Given the description of an element on the screen output the (x, y) to click on. 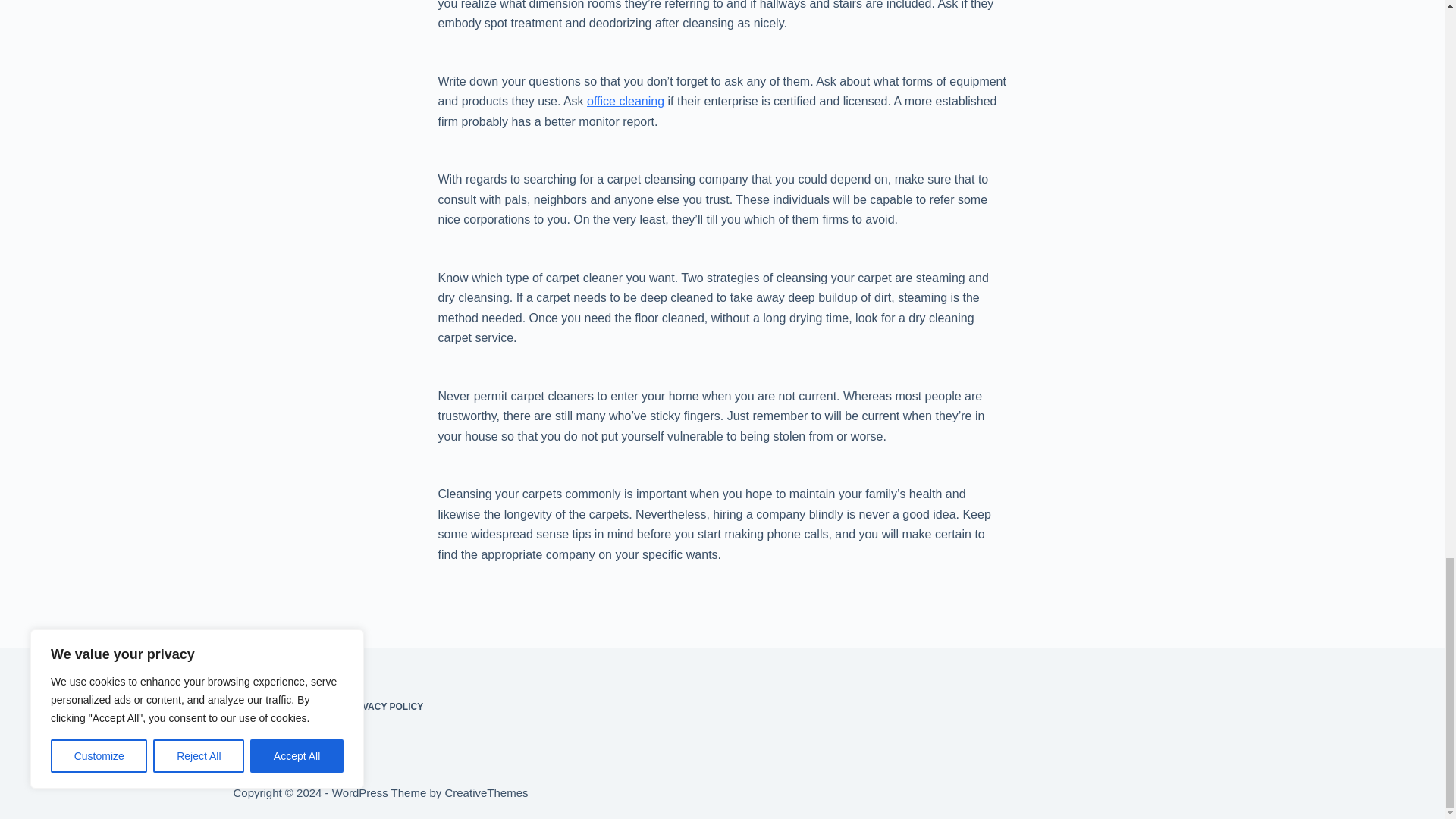
CONTACT (306, 707)
ABOUT (249, 707)
office cleaning (624, 101)
PRIVACY POLICY (384, 707)
CreativeThemes (485, 792)
